Given the description of an element on the screen output the (x, y) to click on. 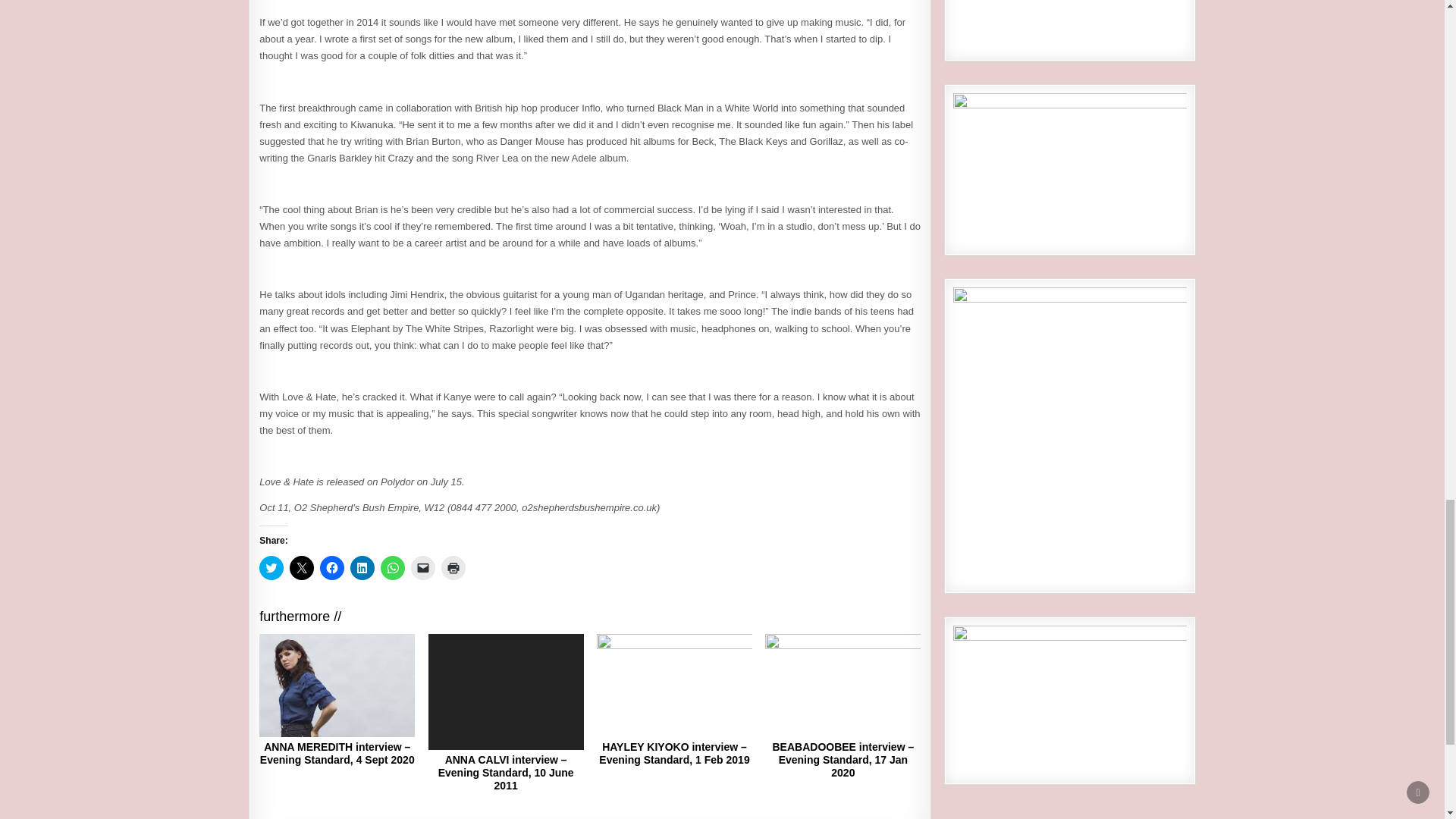
Click to share on Twitter (271, 567)
Click to email a link to a friend (422, 567)
Click to share on Facebook (331, 567)
Click to share on WhatsApp (392, 567)
Click to print (453, 567)
Click to share on LinkedIn (362, 567)
Click to share on X (301, 567)
